Given the description of an element on the screen output the (x, y) to click on. 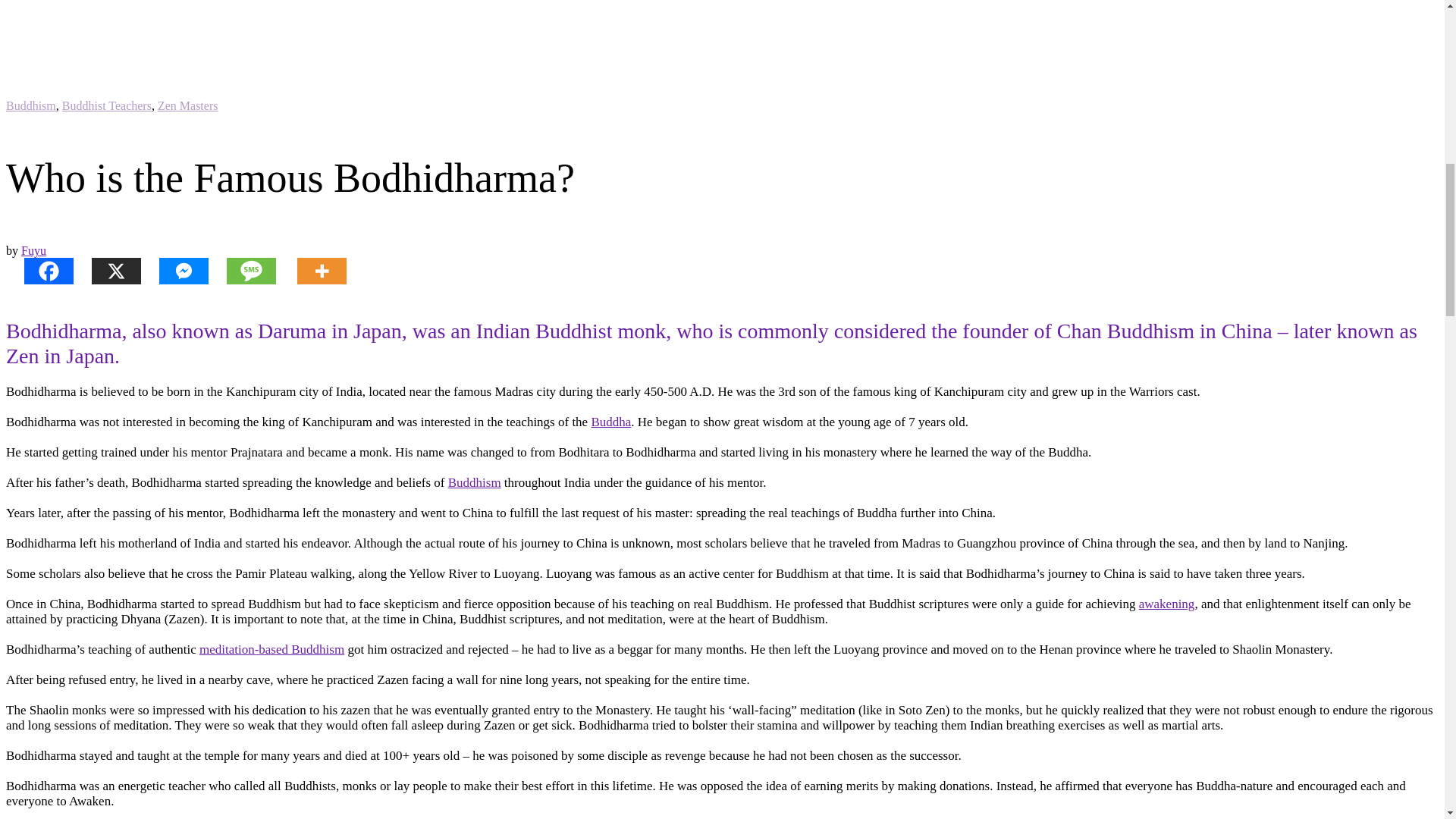
SMS (242, 270)
How to practice Zen meditation? (271, 649)
Buddhism (30, 105)
Facebook (39, 270)
awakening (1166, 603)
Zen Masters (187, 105)
Buddhism (474, 482)
What is Satori? (1166, 603)
Who is Buddha ? (610, 421)
What is Buddhism? (474, 482)
More (312, 270)
Buddhist Teachers (106, 105)
